Given the description of an element on the screen output the (x, y) to click on. 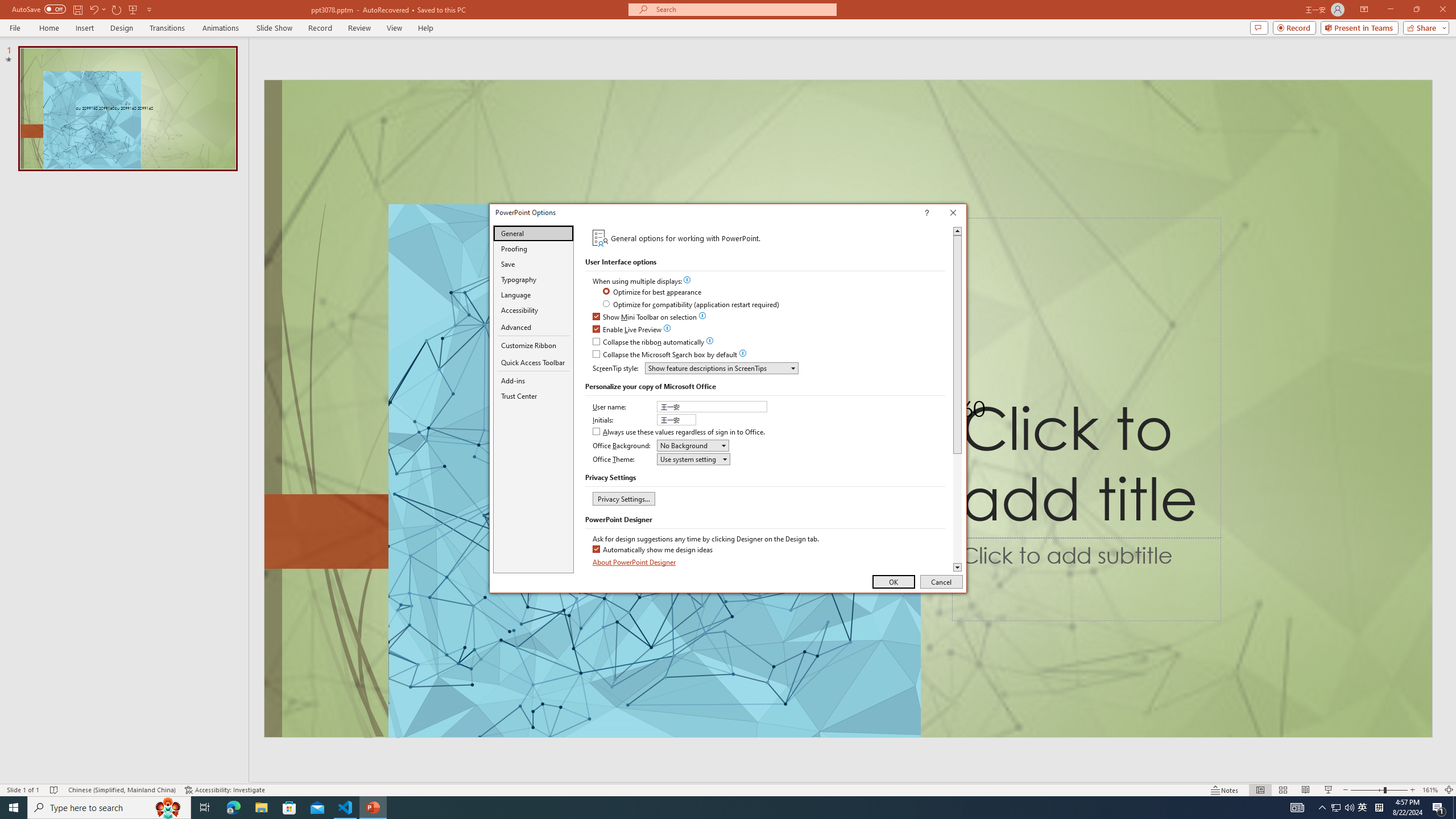
Show Mini Toolbar on selection (645, 317)
Spell Check No Errors (54, 790)
Search highlights icon opens search home window (167, 807)
Visual Studio Code - 1 running window (345, 807)
Q2790: 100% (1349, 807)
